Given the description of an element on the screen output the (x, y) to click on. 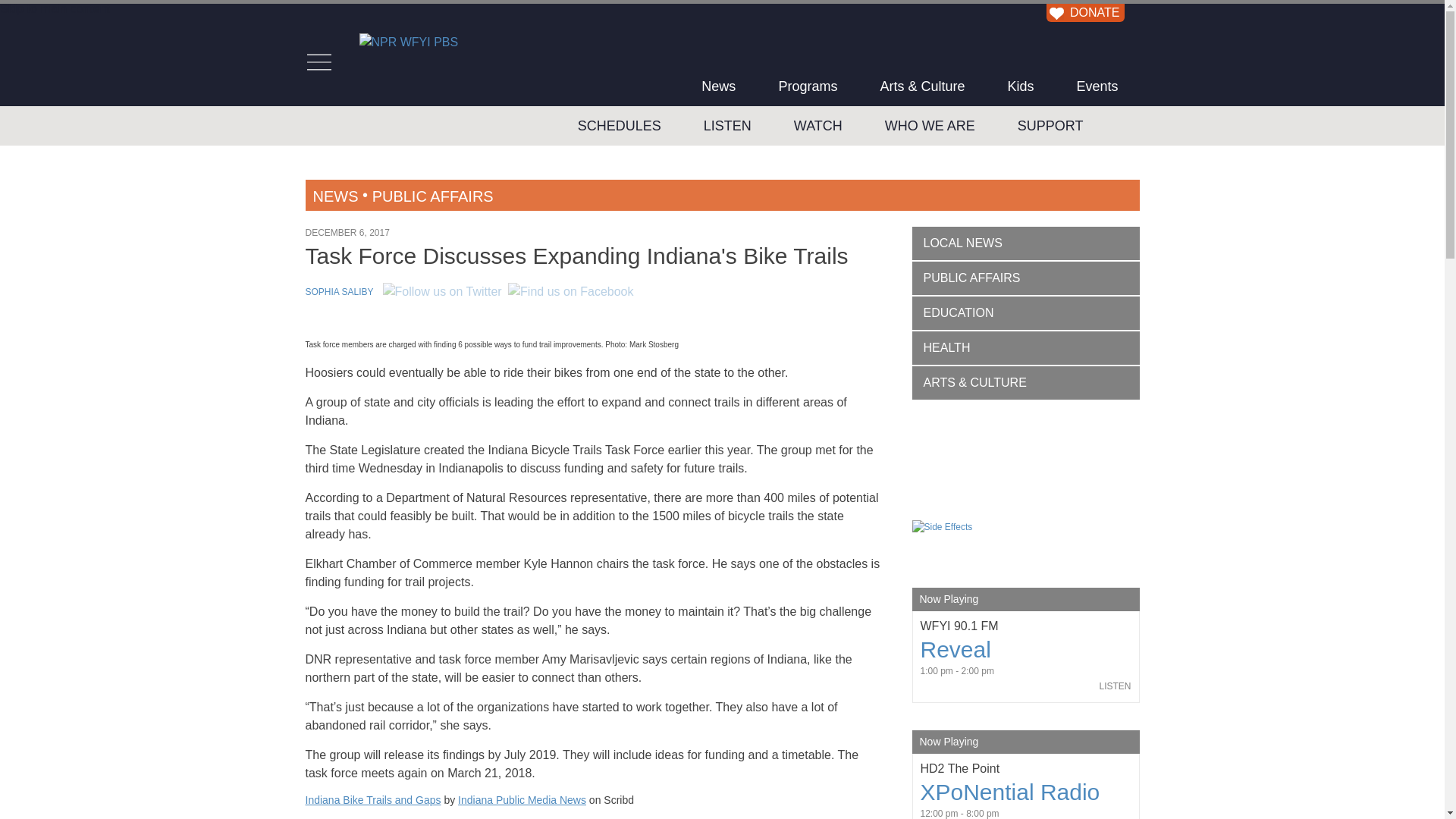
Menu (317, 61)
LISTEN (727, 125)
Indiana Public Media News (522, 799)
WHO WE ARE (929, 125)
Kids (1019, 86)
News (718, 86)
Skip to main content (55, 9)
Indiana Bike Trails and Gaps (372, 799)
Programs (808, 86)
Indiana Bike Trails and Gaps (592, 814)
